Given the description of an element on the screen output the (x, y) to click on. 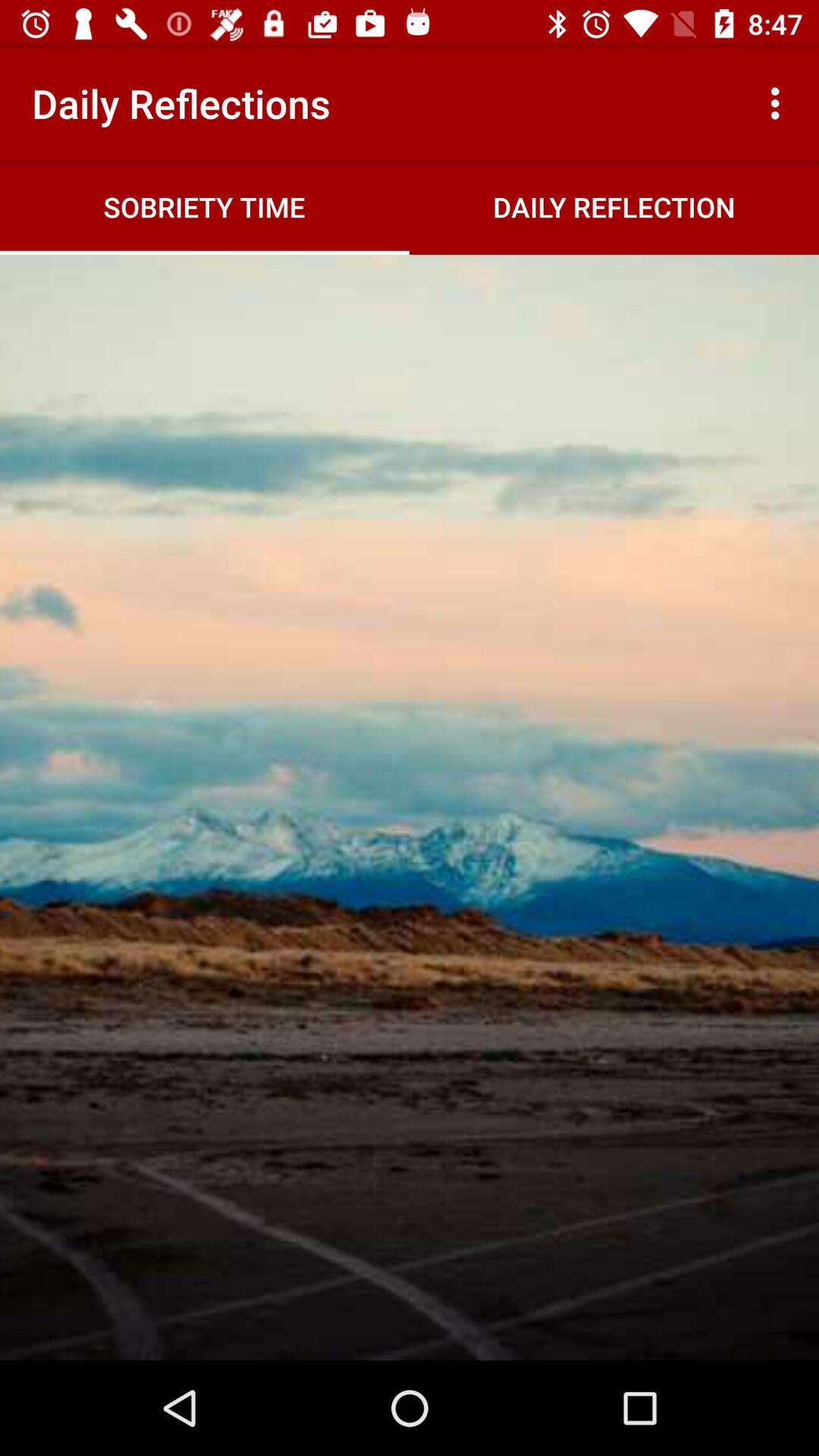
press the app next to daily reflections (779, 103)
